Given the description of an element on the screen output the (x, y) to click on. 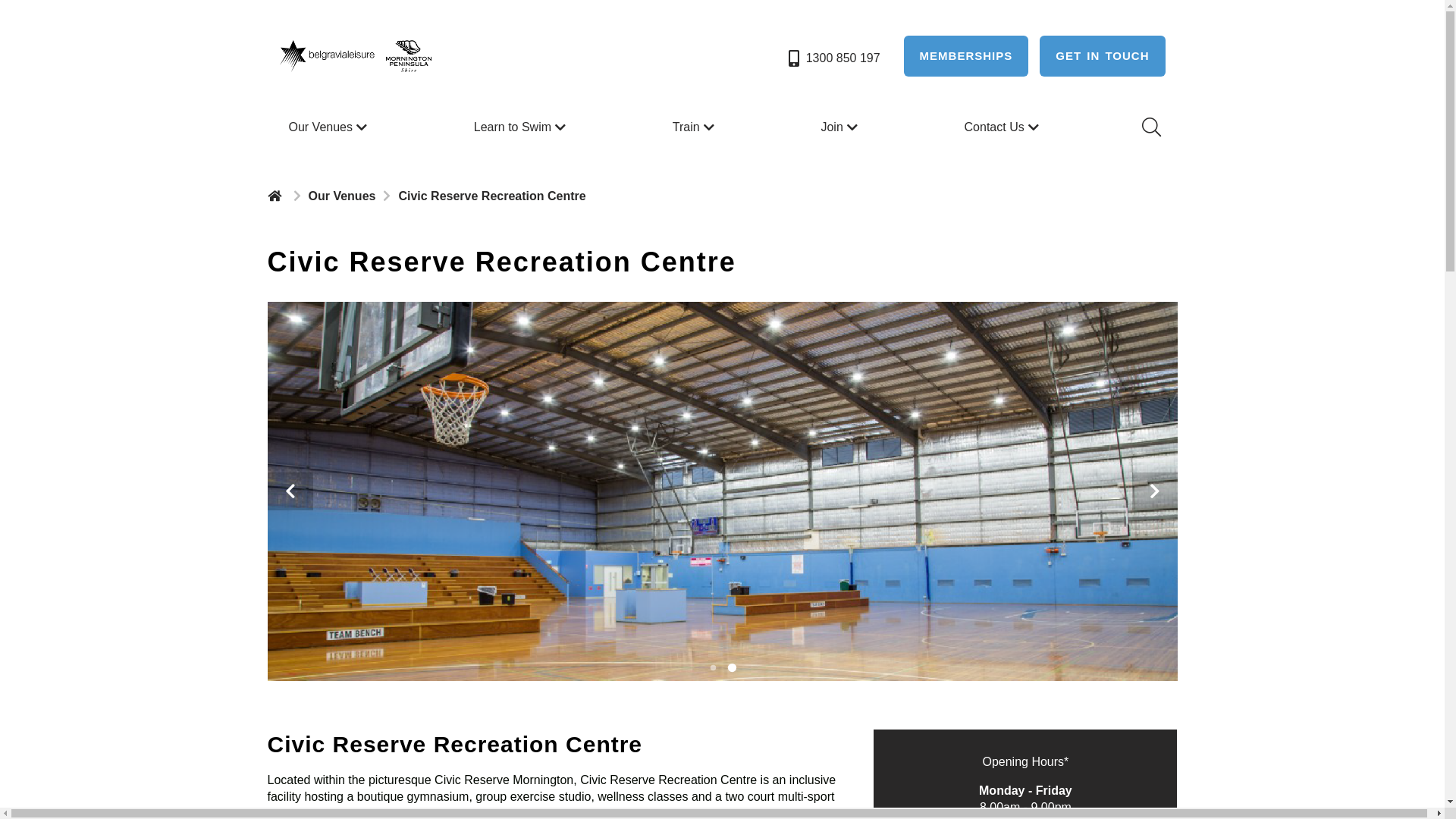
Join Element type: text (840, 127)
  Element type: text (275, 195)
Learn to Swim Element type: text (521, 127)
GET IN TOUCH Element type: text (1101, 55)
Next Element type: text (1153, 491)
Train Element type: text (695, 127)
MEMBERSHIPS Element type: text (966, 55)
Contact Us Element type: text (1003, 127)
Our Venues Element type: text (329, 127)
Search Element type: text (1150, 127)
1300 850 197 Element type: text (832, 58)
Prev Element type: text (289, 491)
